Given the description of an element on the screen output the (x, y) to click on. 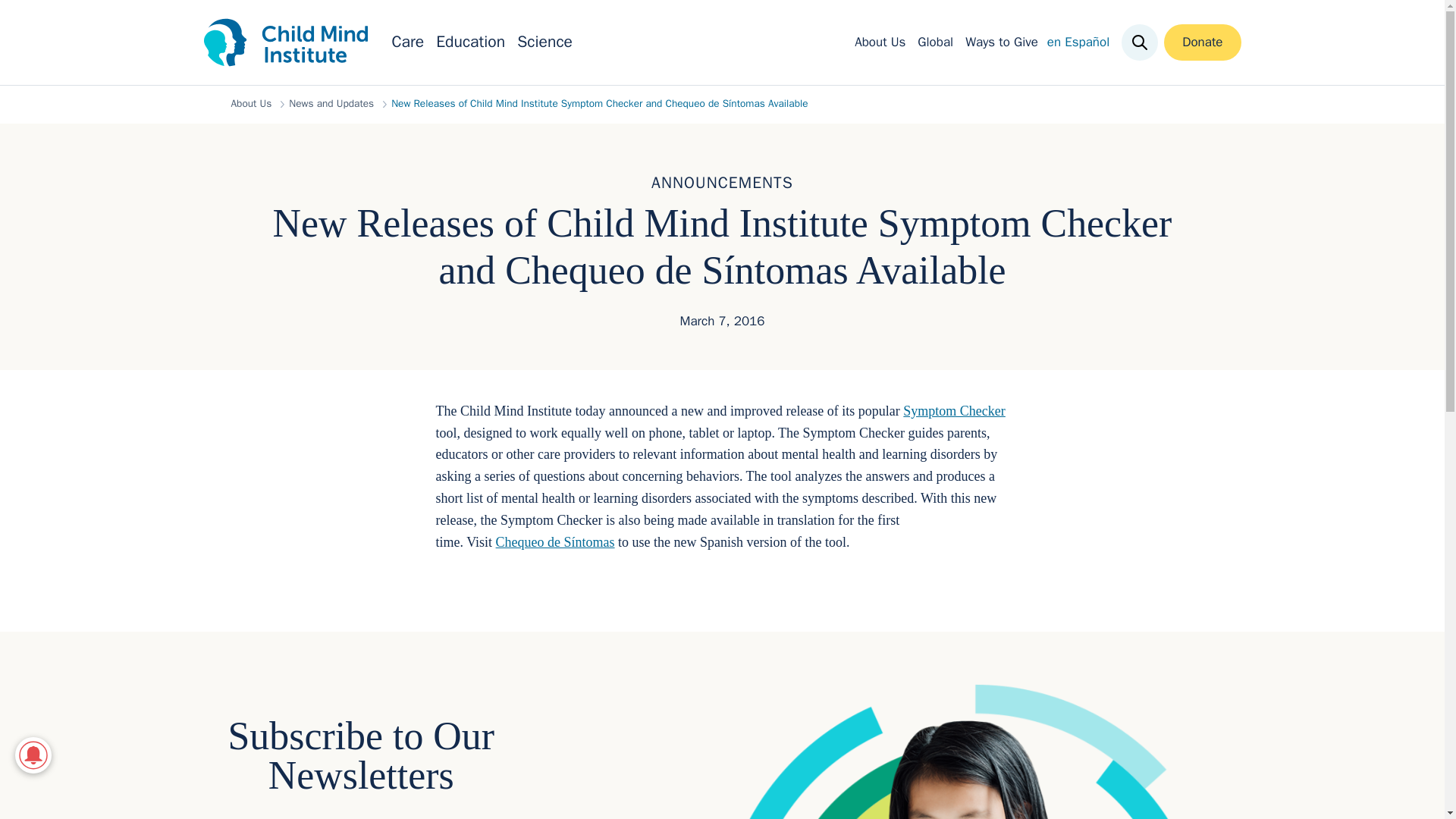
Education (470, 42)
Care (407, 42)
